Given the description of an element on the screen output the (x, y) to click on. 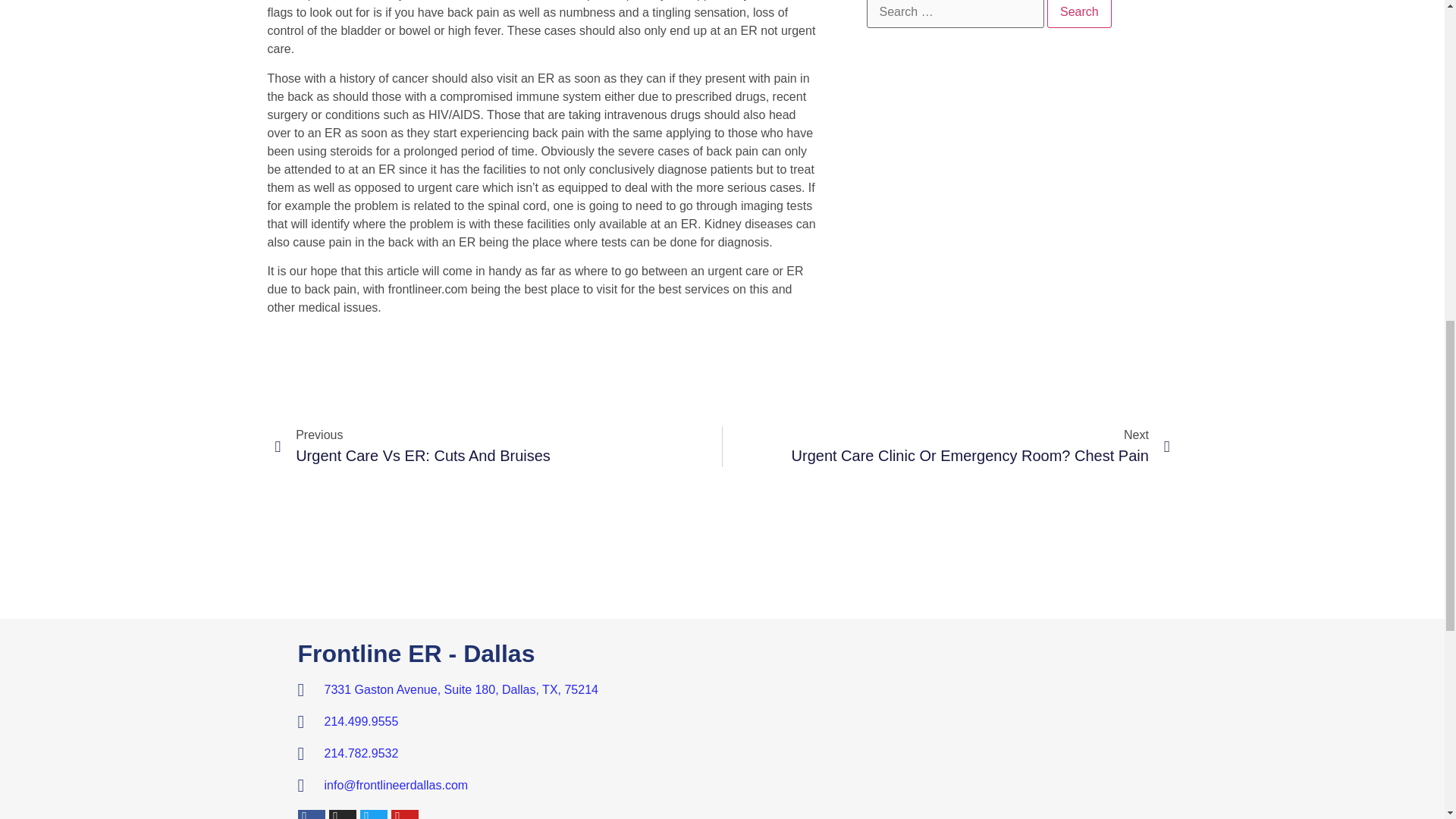
Search (1079, 13)
214.499.9555 (498, 445)
Search (505, 721)
frontline er, dallas, texas, usa (1079, 13)
Search (938, 730)
